Given the description of an element on the screen output the (x, y) to click on. 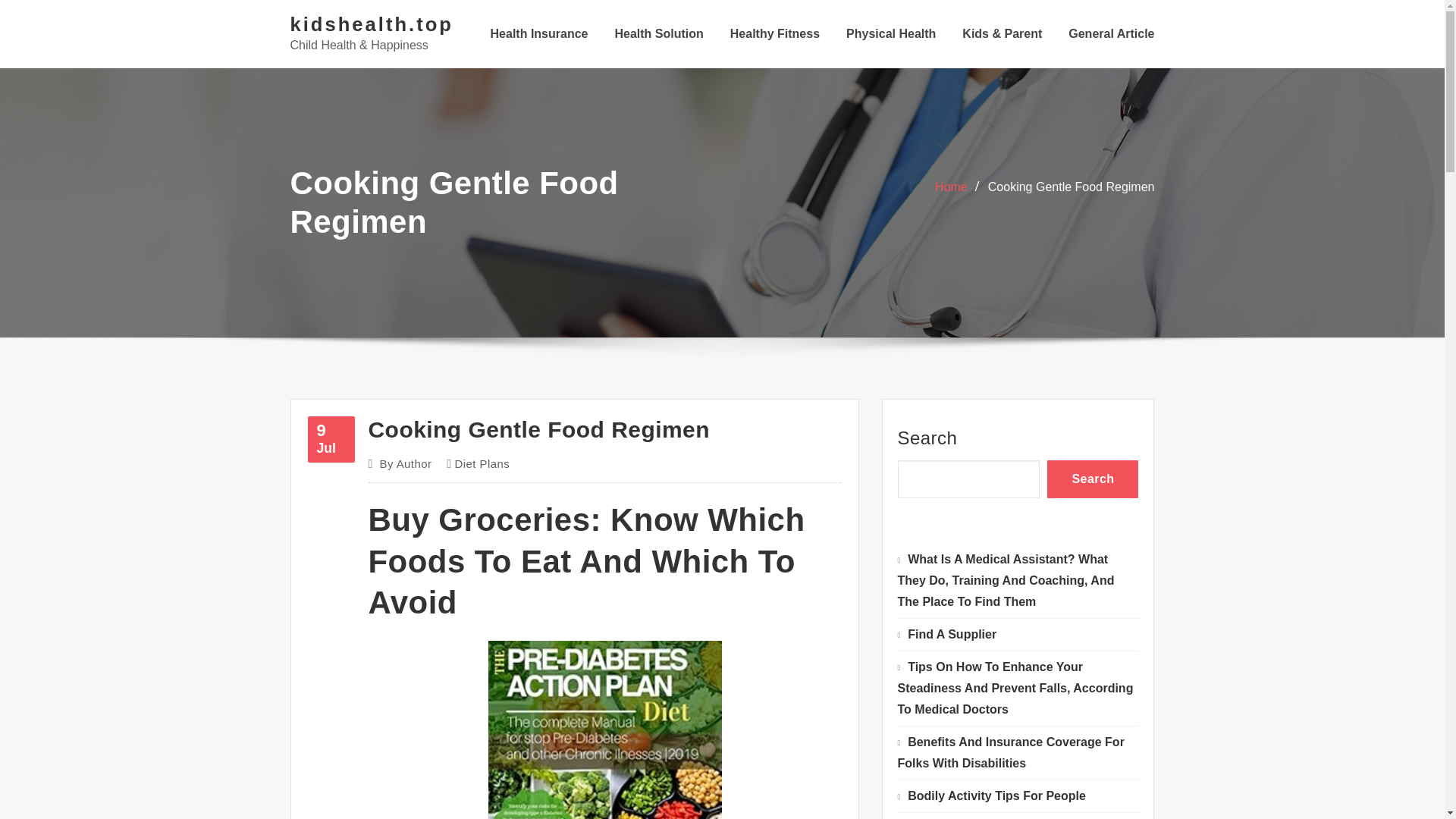
Healthy Fitness (774, 33)
General Article (1111, 33)
Health Insurance (330, 439)
By Author (539, 33)
Home (404, 464)
Cooking Gentle Food Regimen (951, 186)
Physical Health (1071, 186)
Diet Plans (890, 33)
Health Solution (481, 464)
